Given the description of an element on the screen output the (x, y) to click on. 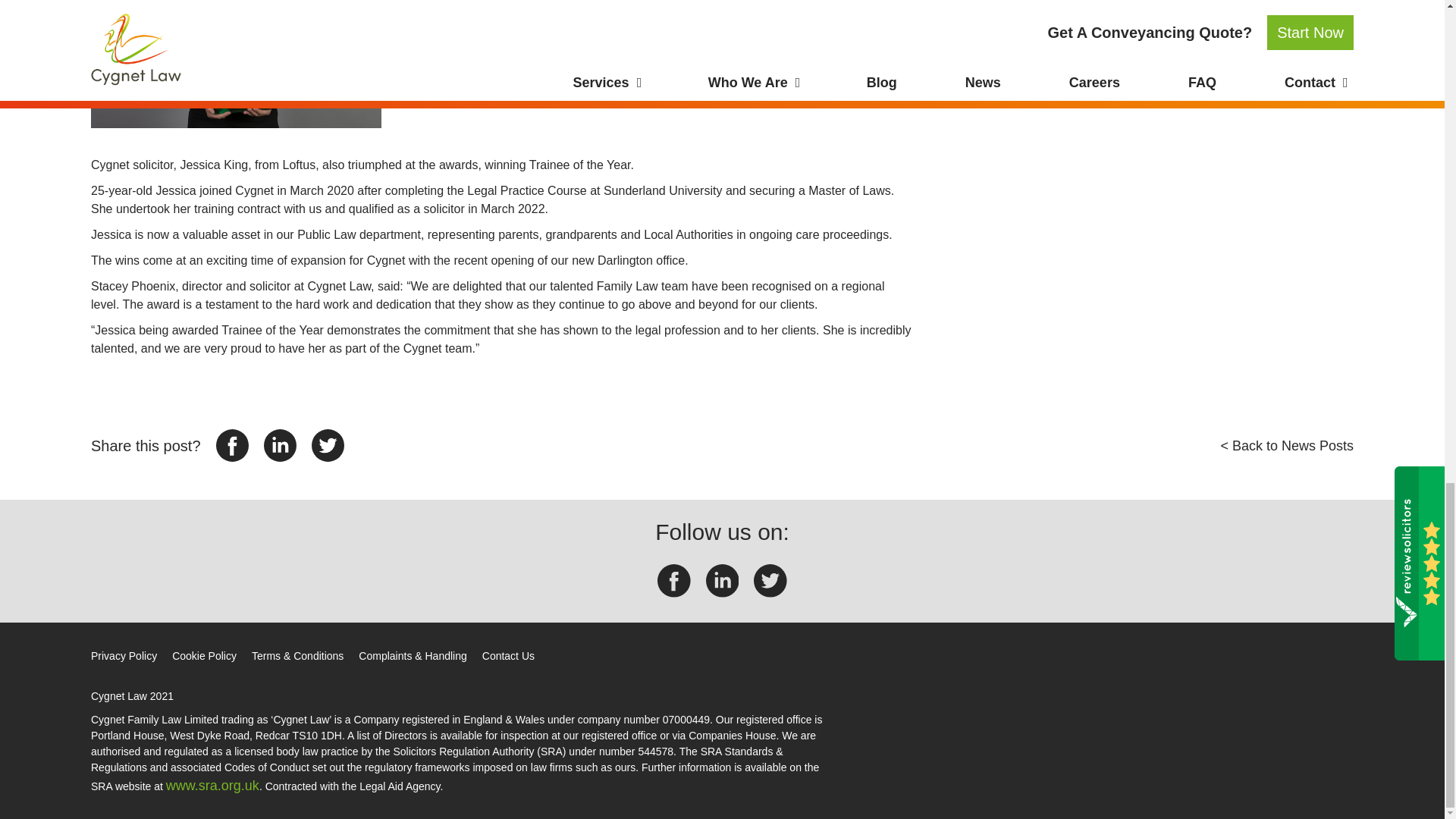
Contact Us (507, 655)
Cookie Policy (203, 655)
Click to share this post on Twitter (327, 445)
Click to share this post on LinkedIn (280, 445)
Privacy Policy (123, 655)
www.sra.org.uk (212, 785)
Click to share this post on Facebook (231, 445)
